Given the description of an element on the screen output the (x, y) to click on. 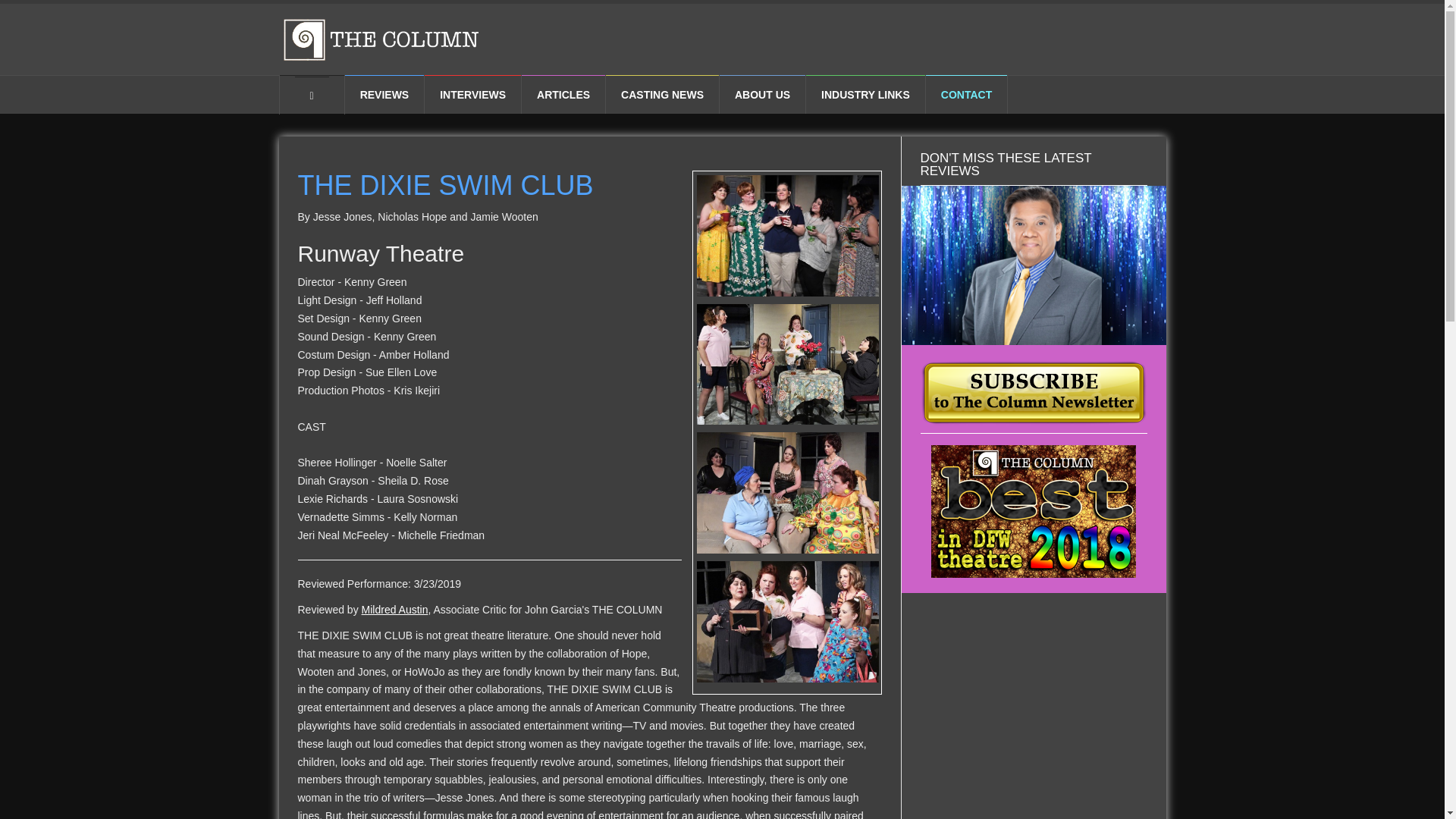
Mildred Austin (394, 609)
ARTICLES (563, 94)
INDUSTRY LINKS (865, 94)
CONTACT (966, 94)
REVIEWS (385, 94)
INTERVIEWS (473, 94)
ABOUT US (762, 94)
CASTING NEWS (662, 94)
